Given the description of an element on the screen output the (x, y) to click on. 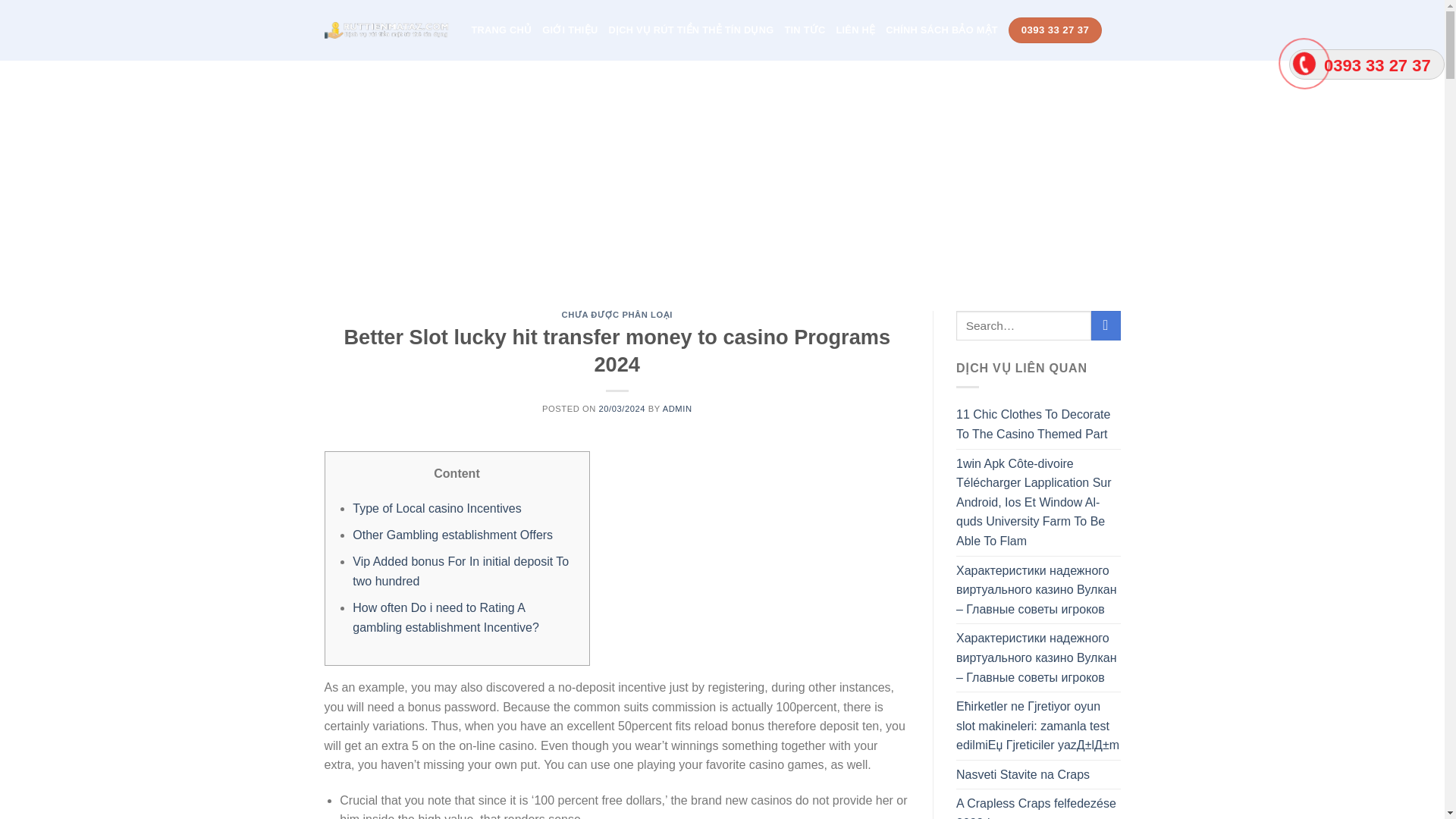
Vip Added bonus For In initial deposit To two hundred (460, 571)
Nasveti Stavite na Craps (1022, 774)
0393 33 27 37 (1055, 30)
11 Chic Clothes To Decorate To The Casino Themed Part (1038, 423)
Type of Local casino Incentives (436, 508)
Other Gambling establishment Offers (452, 534)
ADMIN (677, 408)
